Given the description of an element on the screen output the (x, y) to click on. 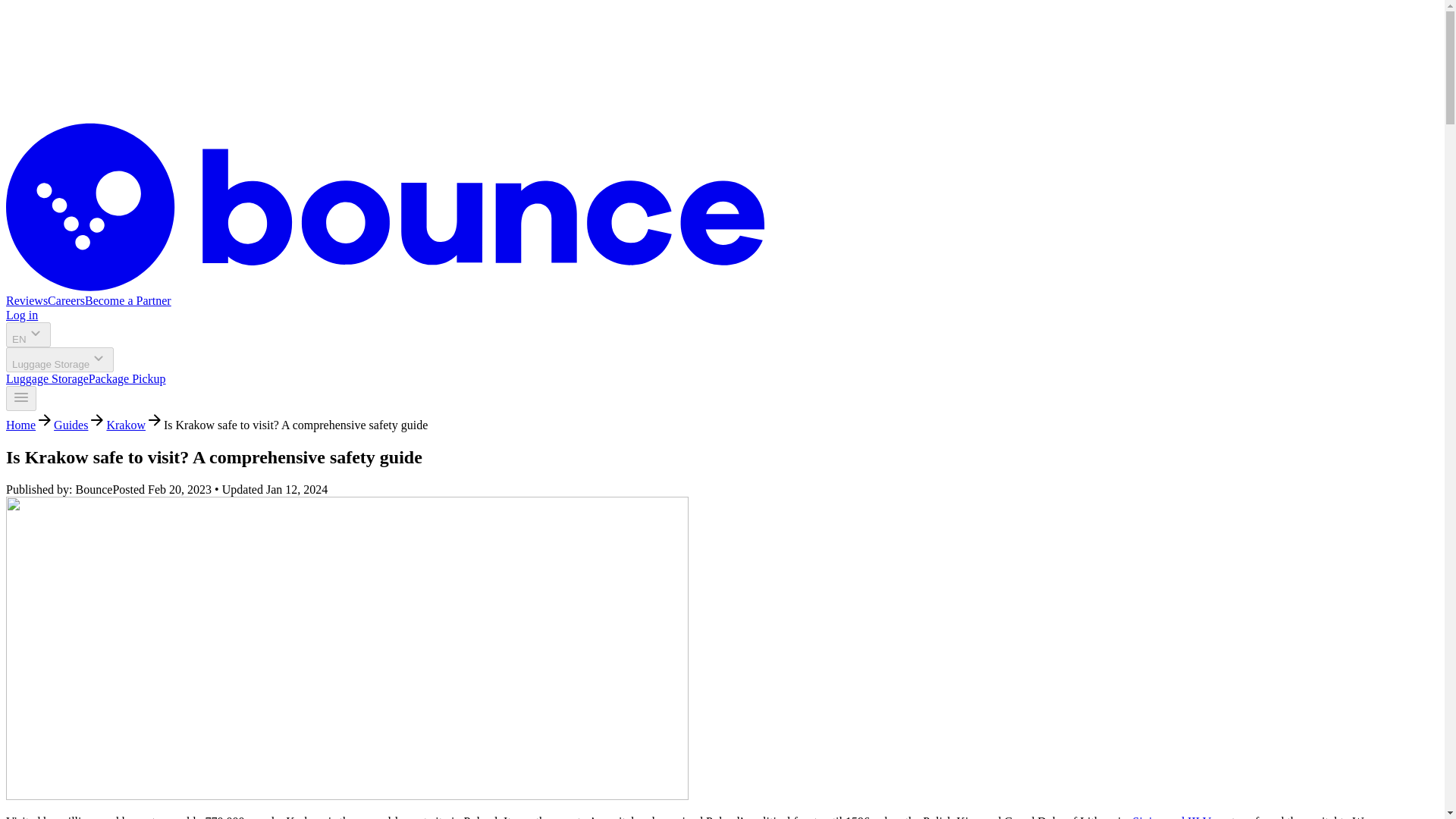
Home (19, 424)
Luggage Storage (46, 378)
Reviews (26, 300)
Luggage Storage (59, 359)
Log in (21, 314)
Guides (70, 424)
Become a Partner (127, 300)
Krakow (125, 424)
Bounce (384, 286)
Package Pickup (126, 378)
EN (27, 334)
Sigismund III Vasa (1178, 816)
Careers (66, 300)
